Given the description of an element on the screen output the (x, y) to click on. 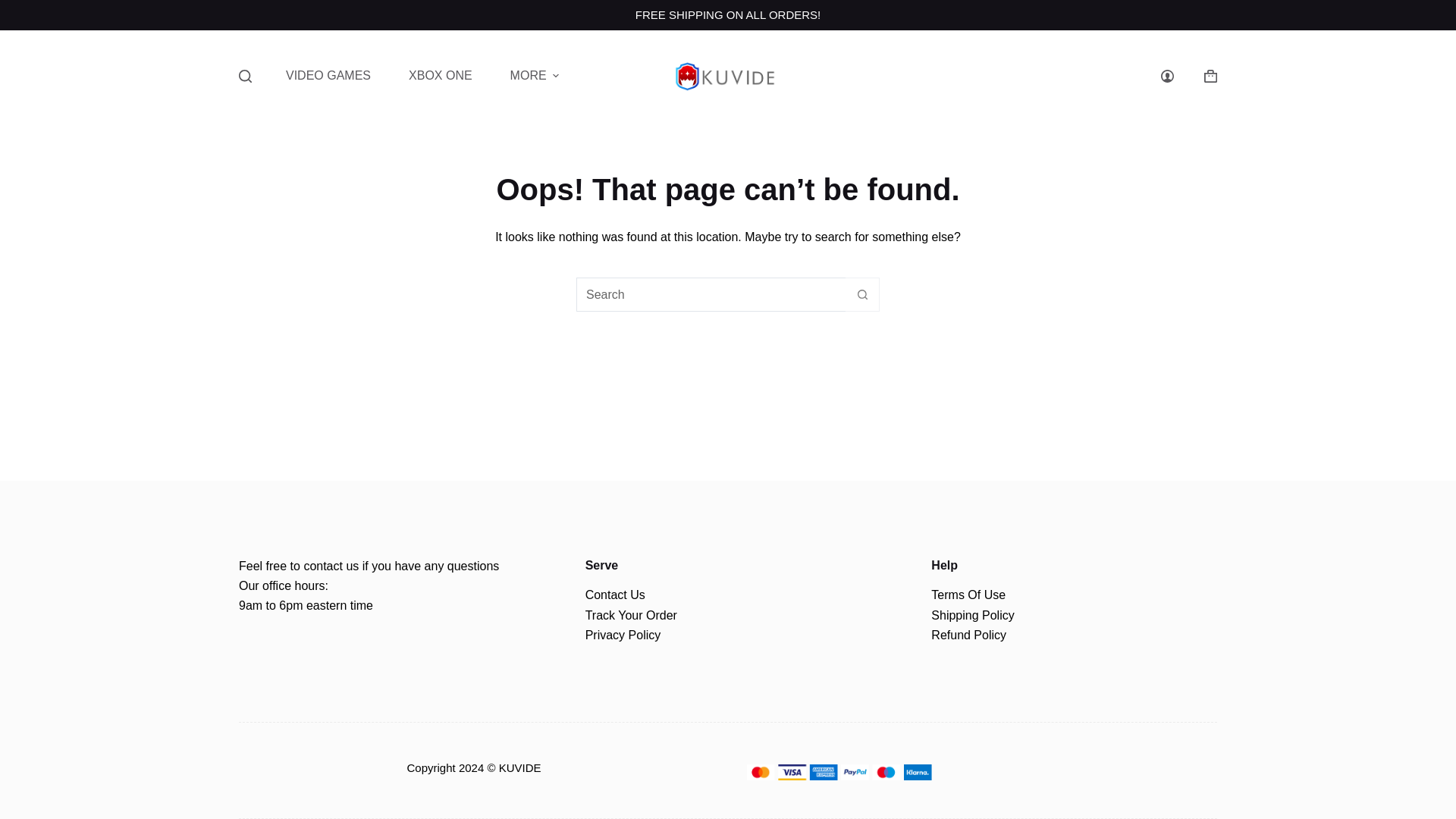
Search for... (710, 294)
Privacy Policy (623, 634)
Skip to content (15, 7)
XBOX ONE (441, 75)
Track Your Order (631, 615)
VIDEO GAMES (328, 75)
MORE (535, 75)
Shopping cart (1210, 75)
Contact Us (615, 594)
